Given the description of an element on the screen output the (x, y) to click on. 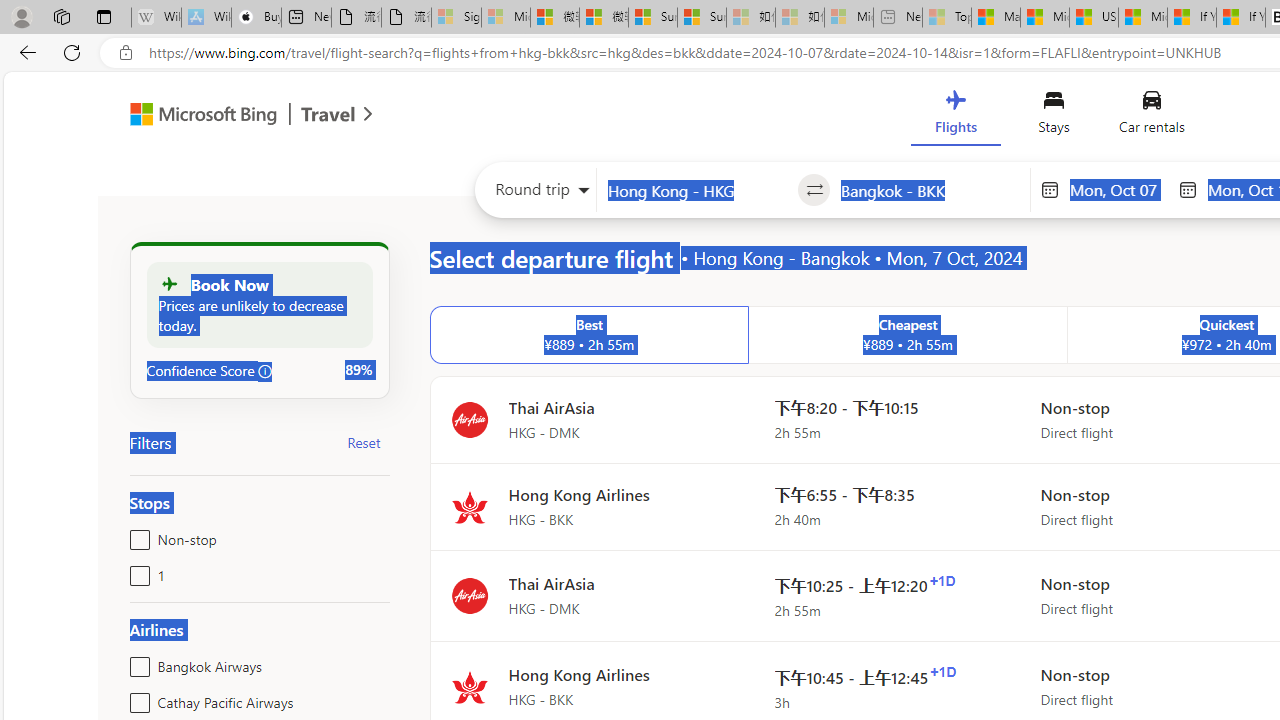
Stays (1053, 116)
Flights (955, 116)
Class: msft-bing-logo msft-bing-logo-desktop (198, 114)
Microsoft Bing (194, 116)
